Given the description of an element on the screen output the (x, y) to click on. 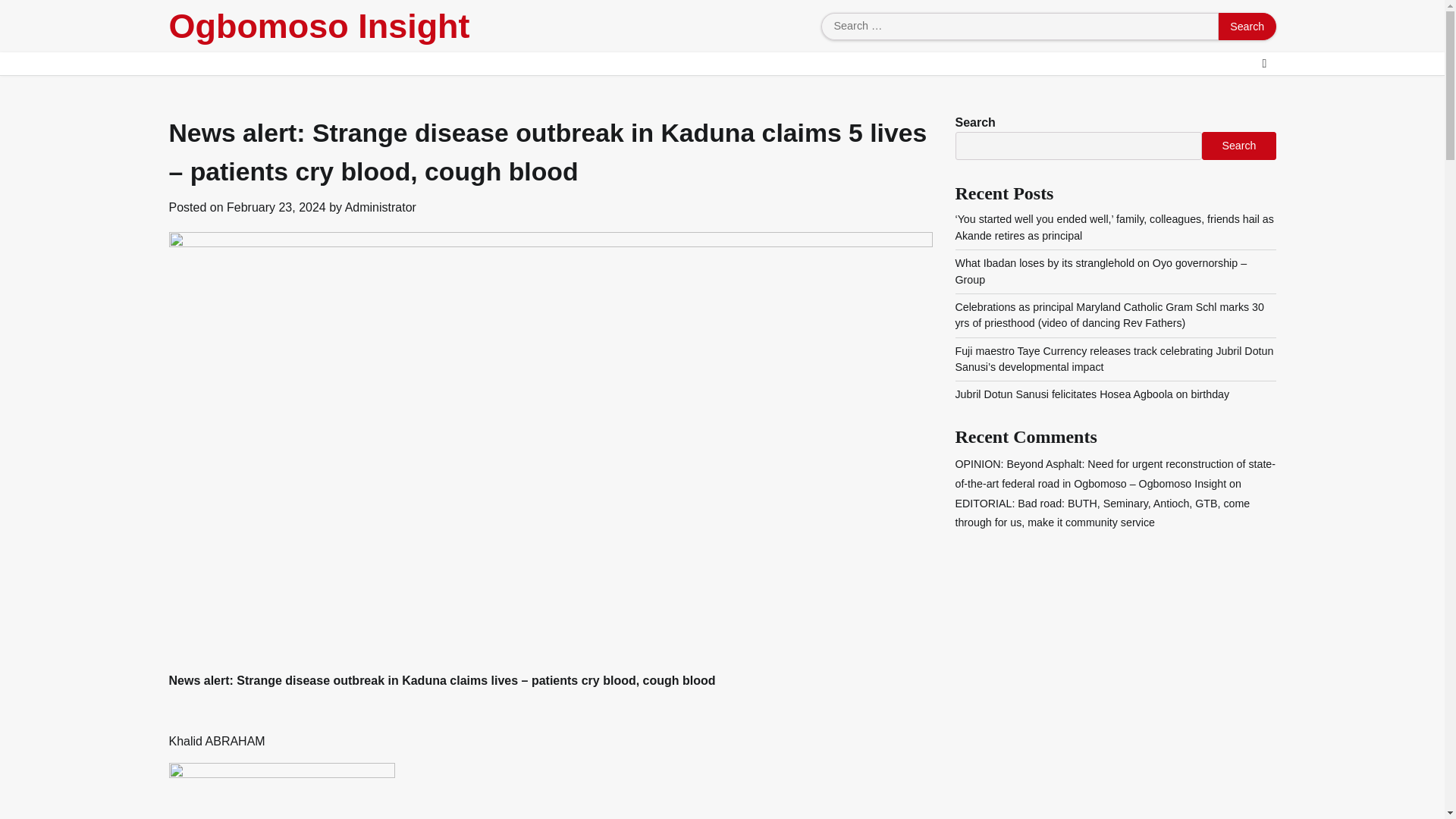
Search (1247, 26)
Search (1238, 144)
Administrator (380, 206)
View Random Post (1263, 63)
Search (1247, 26)
February 23, 2024 (276, 206)
Ogbomoso Insight (318, 25)
Search (1247, 26)
